Given the description of an element on the screen output the (x, y) to click on. 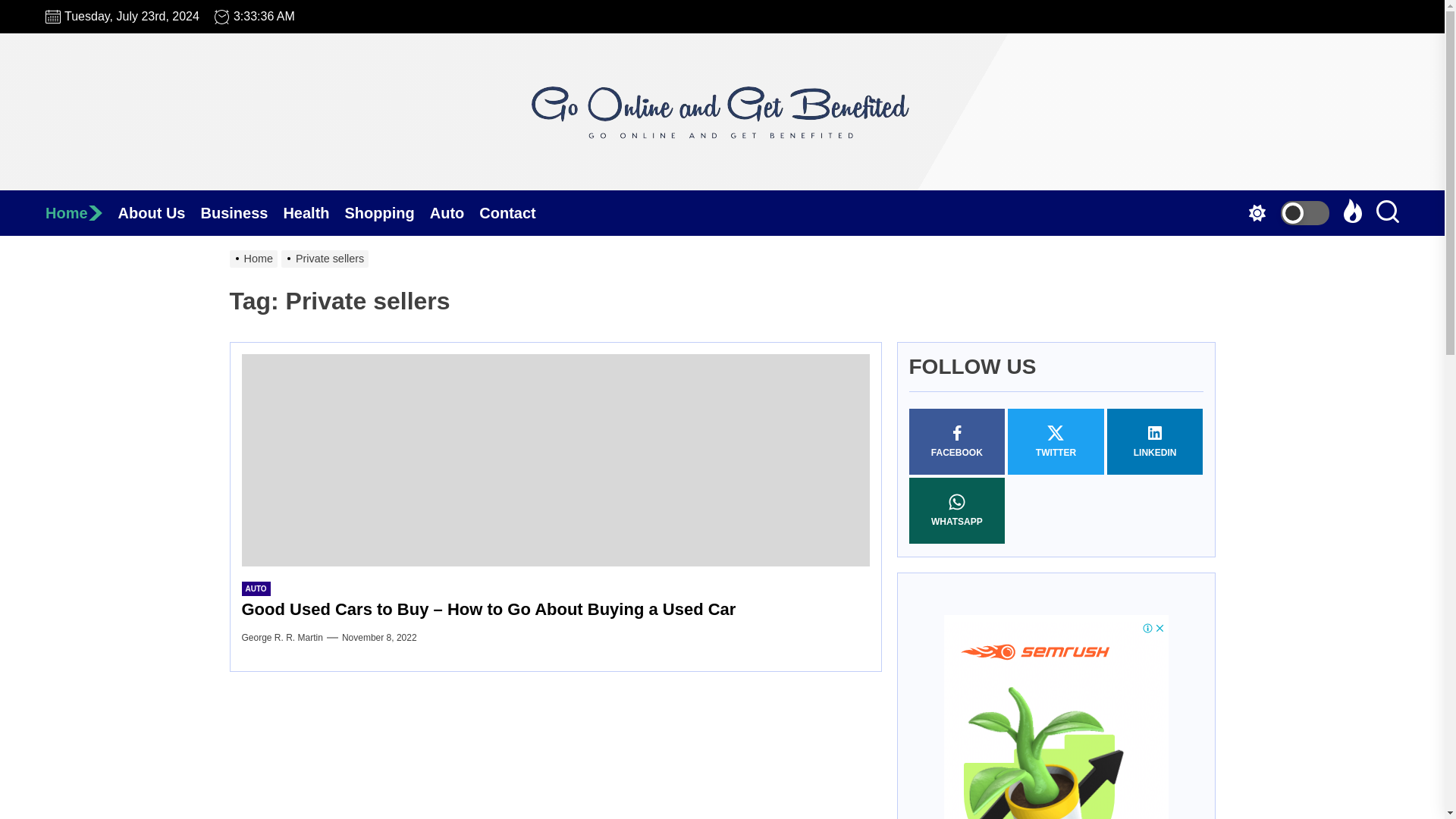
Health (312, 212)
Go Online and Get Benefited (721, 215)
Home (81, 212)
About Us (158, 212)
Contact (514, 212)
Shopping (387, 212)
Home (81, 212)
Business (241, 212)
Auto (454, 212)
